Given the description of an element on the screen output the (x, y) to click on. 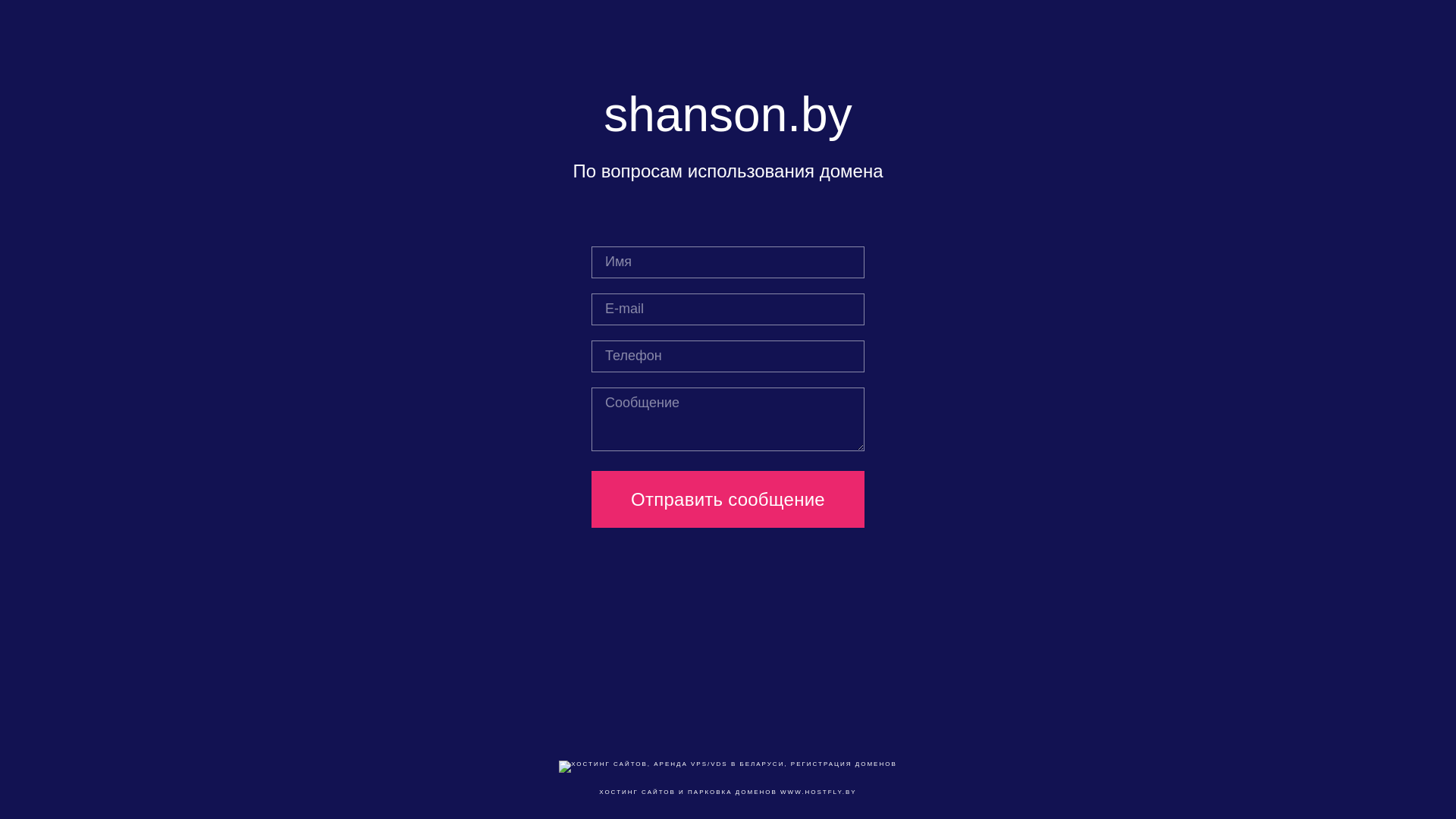
WWW.HOSTFLY.BY Element type: text (818, 791)
